Given the description of an element on the screen output the (x, y) to click on. 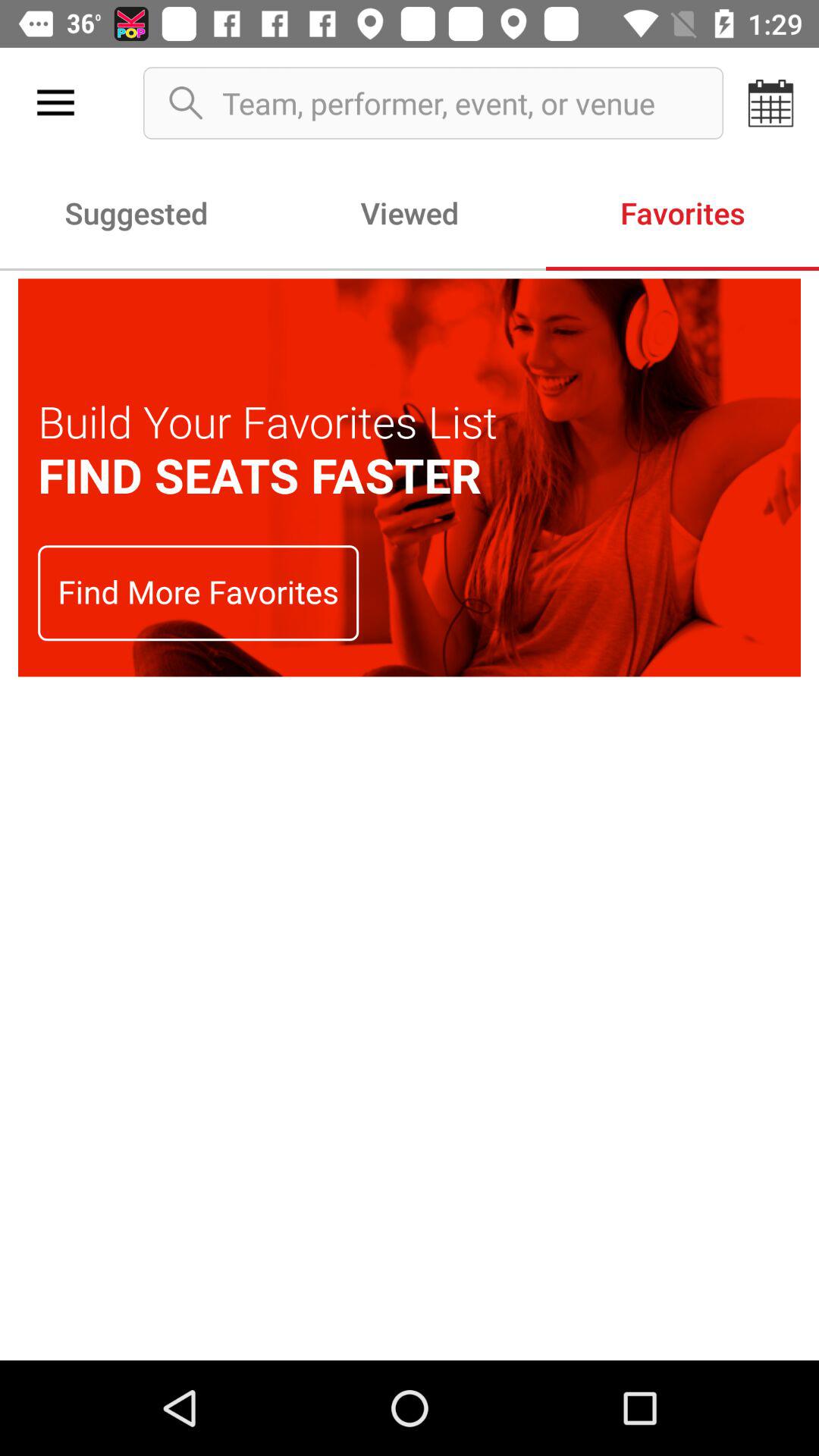
choose the icon to the left of viewed icon (136, 212)
